Given the description of an element on the screen output the (x, y) to click on. 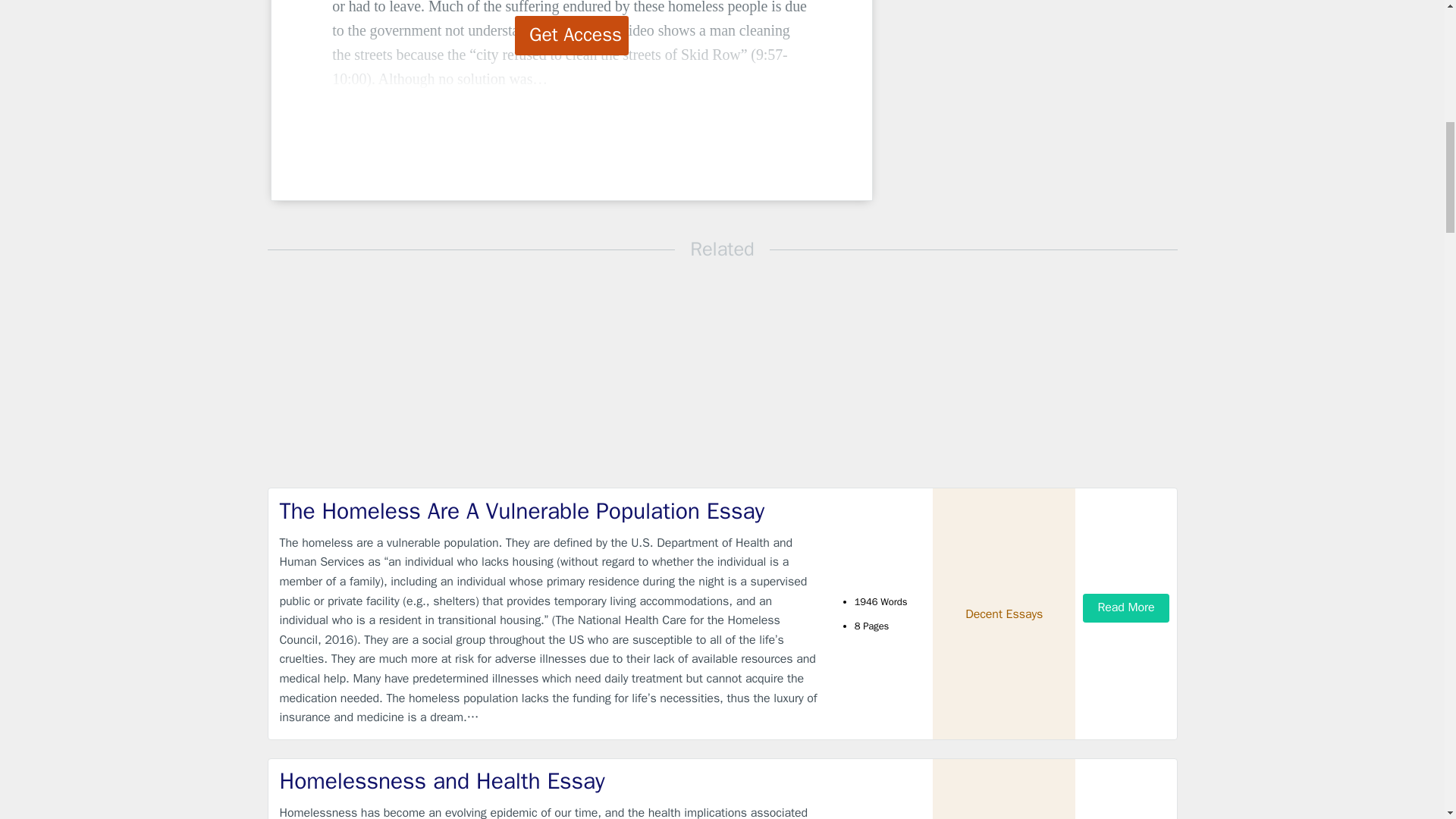
The Homeless Are A Vulnerable Population Essay (548, 511)
Homelessness and Health Essay (548, 780)
Get Access (571, 35)
Read More (1126, 607)
